Given the description of an element on the screen output the (x, y) to click on. 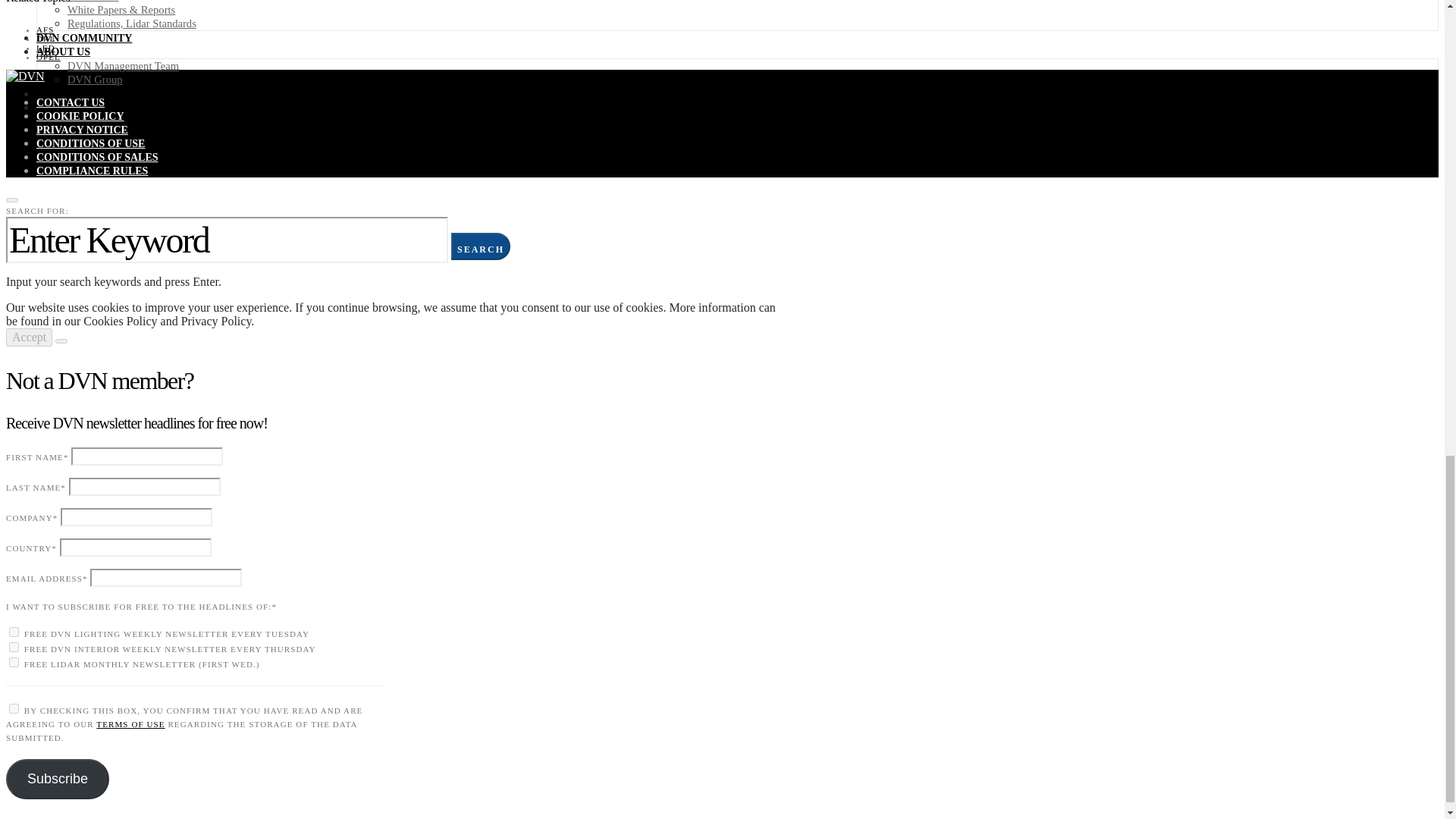
Subscribe (57, 779)
47 (13, 662)
13 (13, 632)
on (13, 708)
16 (13, 646)
